Given the description of an element on the screen output the (x, y) to click on. 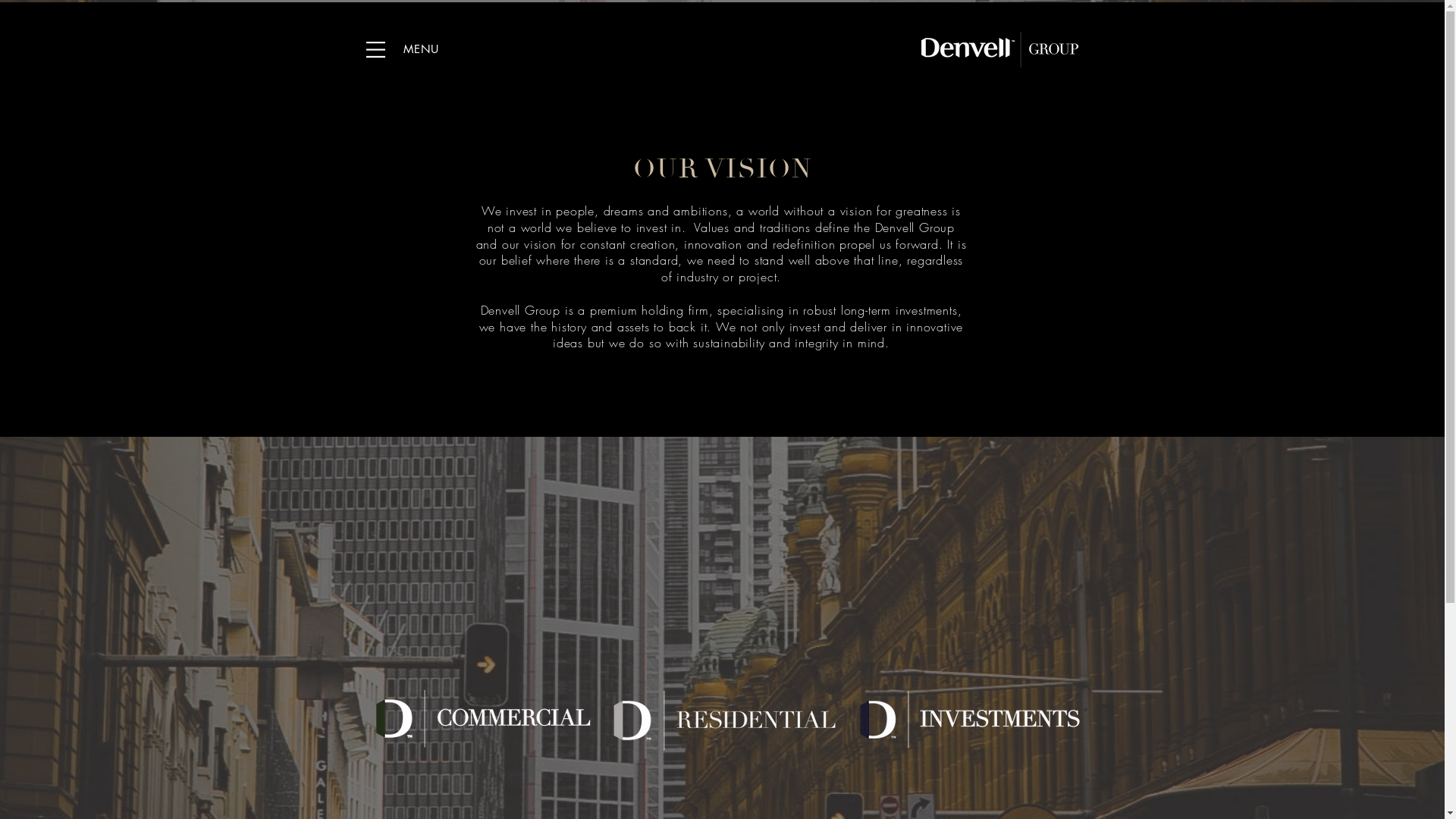
Home Element type: hover (998, 49)
Home Element type: hover (719, 37)
